Given the description of an element on the screen output the (x, y) to click on. 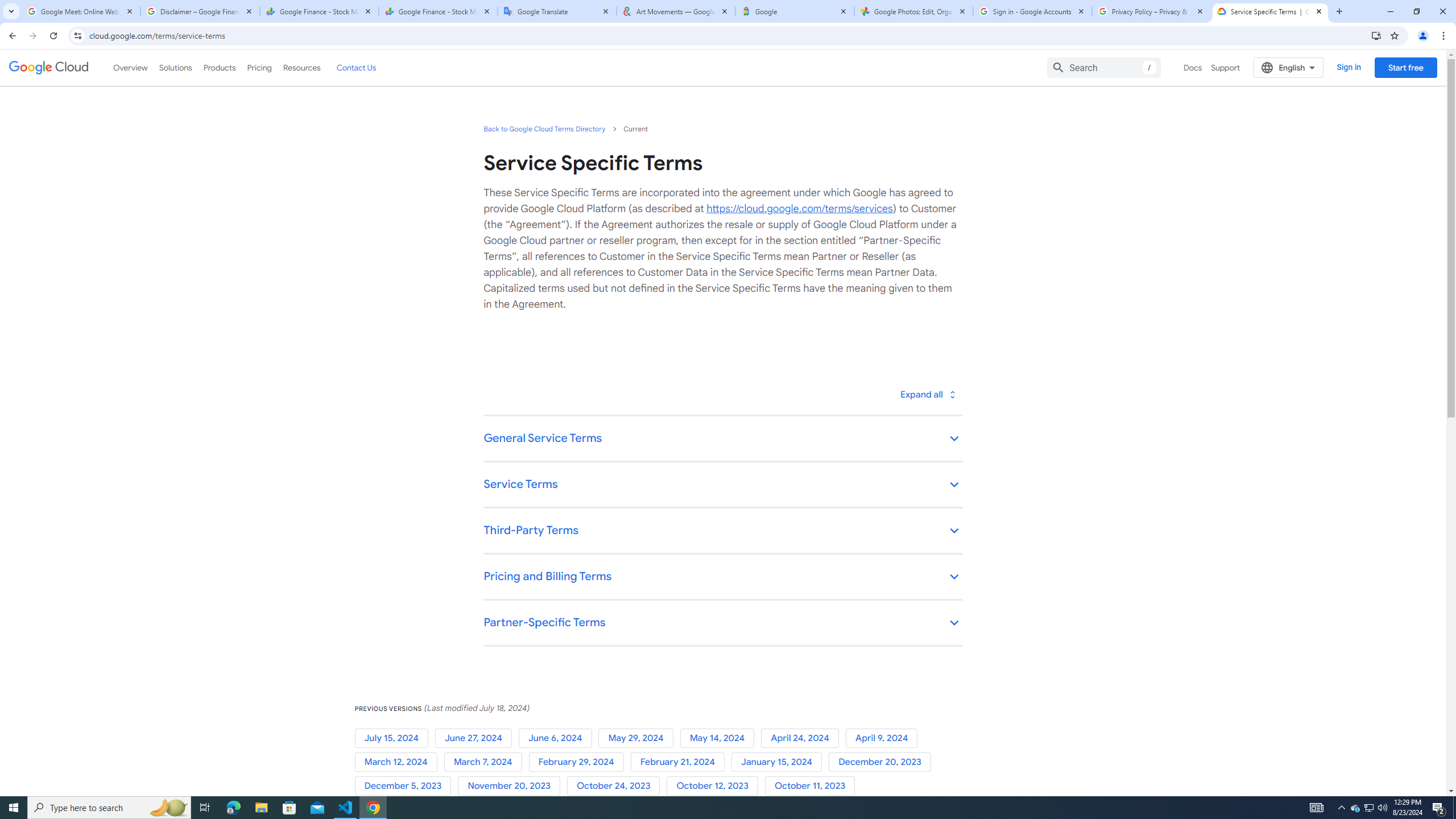
February 21, 2024 (680, 761)
View site information (77, 35)
Solutions (175, 67)
https://cloud.google.com/terms/services (799, 208)
June 27, 2024 (475, 737)
Products (218, 67)
December 20, 2023 (882, 761)
New Tab (1338, 11)
General Service Terms keyboard_arrow_down (722, 439)
October 24, 2023 (616, 786)
Search tabs (10, 11)
Docs (1192, 67)
